Given the description of an element on the screen output the (x, y) to click on. 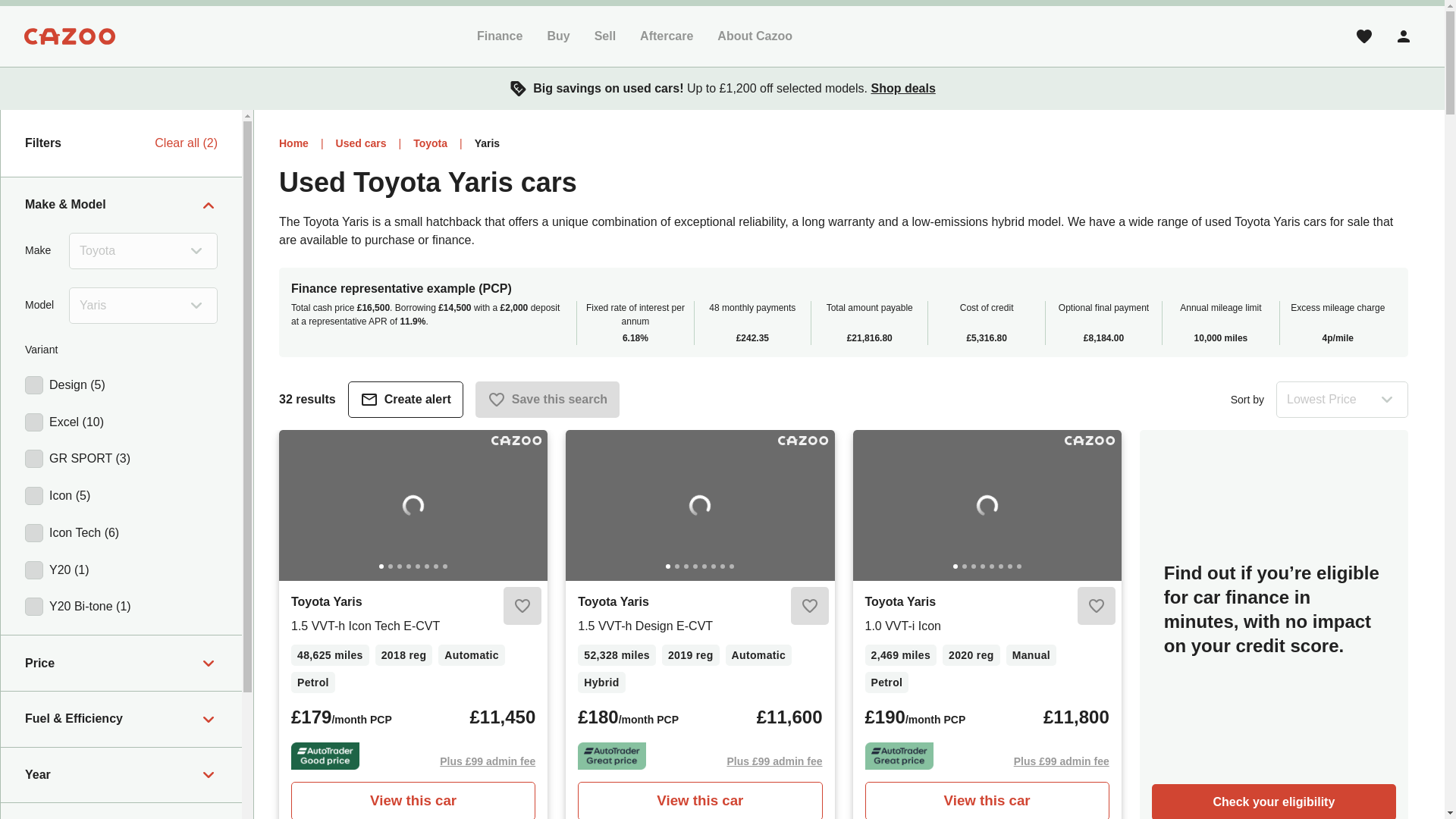
My Account (1404, 36)
Save to favourites (522, 605)
Save to favourites (1096, 605)
Save to favourites (809, 605)
Saved (1364, 36)
Open About Cazoo (754, 35)
